Given the description of an element on the screen output the (x, y) to click on. 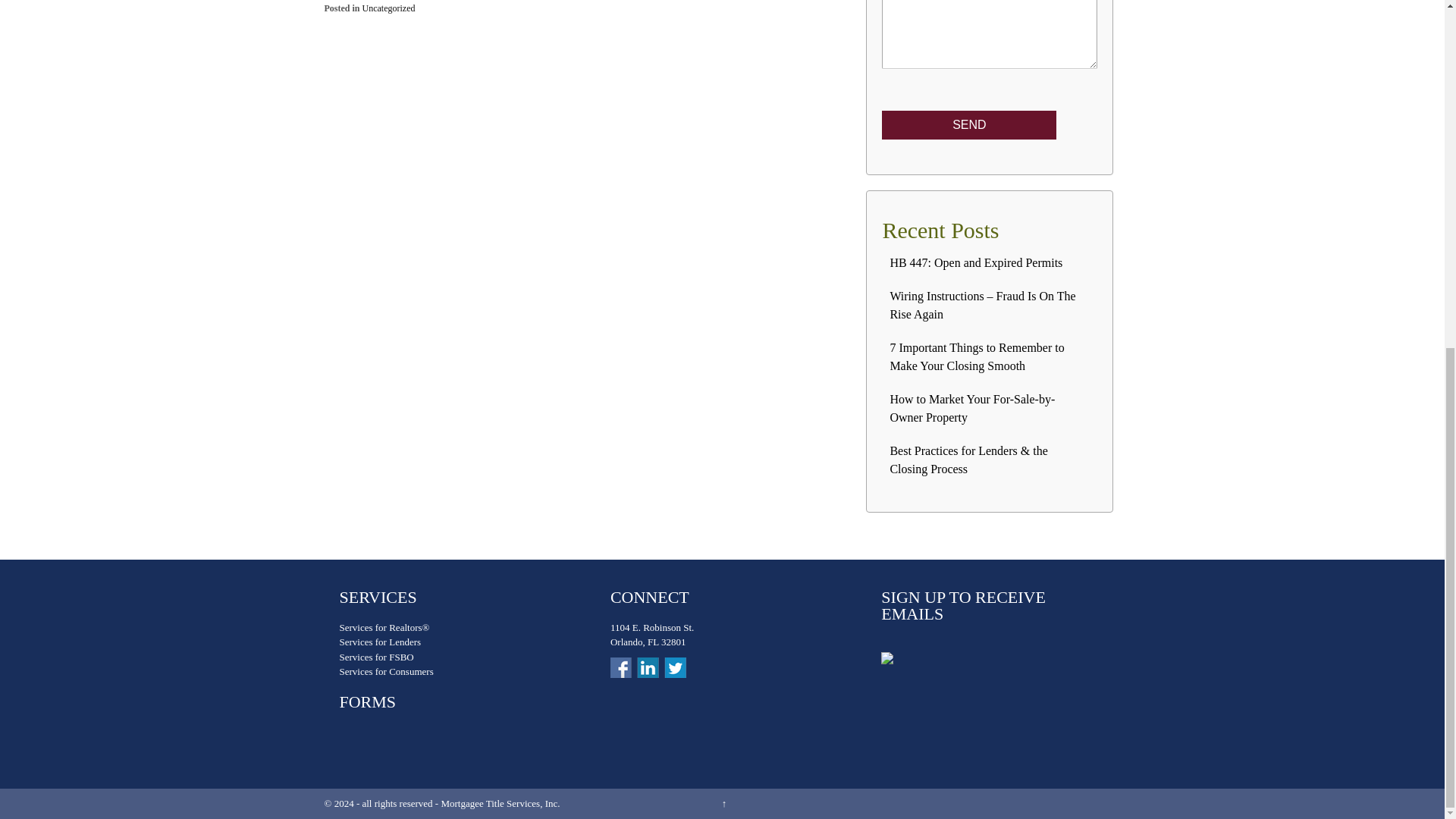
How to Market Your For-Sale-by-Owner Property (971, 408)
Send (969, 124)
Services for Consumers (386, 671)
HB 447: Open and Expired Permits (975, 262)
Services for Lenders (380, 641)
Services for FSBO (376, 656)
7 Important Things to Remember to Make Your Closing Smooth (976, 356)
Send (969, 124)
- all rights reserved - Mortgagee Title Services, Inc. (457, 803)
Uncategorized (388, 8)
